Given the description of an element on the screen output the (x, y) to click on. 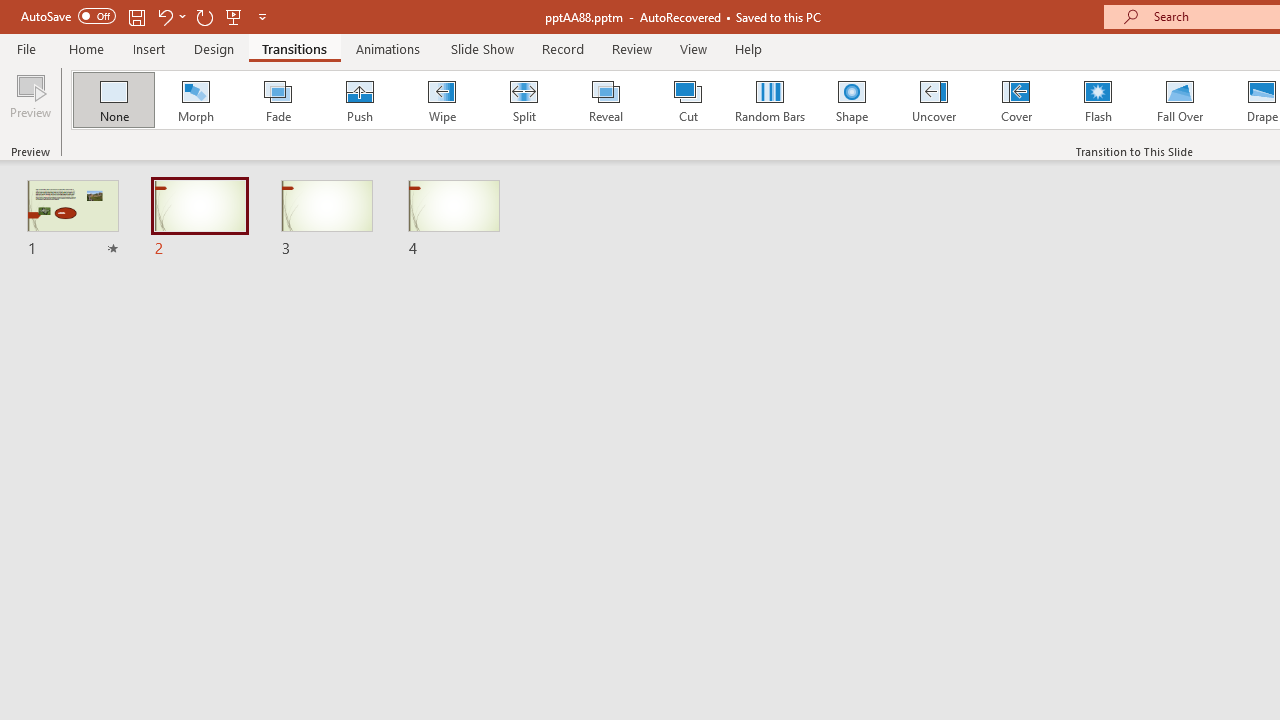
Fade (277, 100)
Flash (1098, 100)
Uncover (934, 100)
Split (523, 100)
Cover (1016, 100)
